Given the description of an element on the screen output the (x, y) to click on. 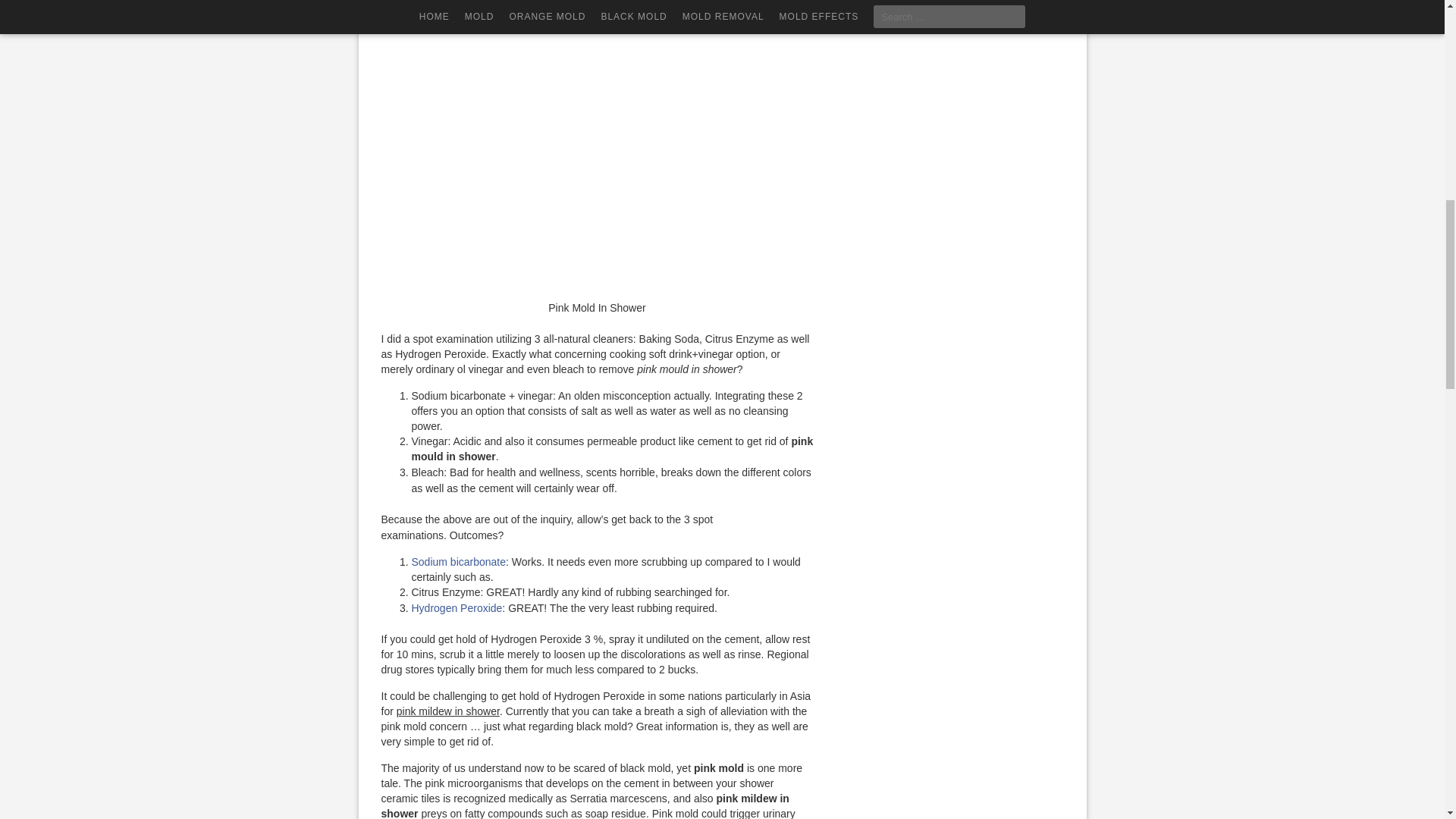
Hydrogen Peroxide (456, 607)
Sodium bicarbonate (457, 562)
